Given the description of an element on the screen output the (x, y) to click on. 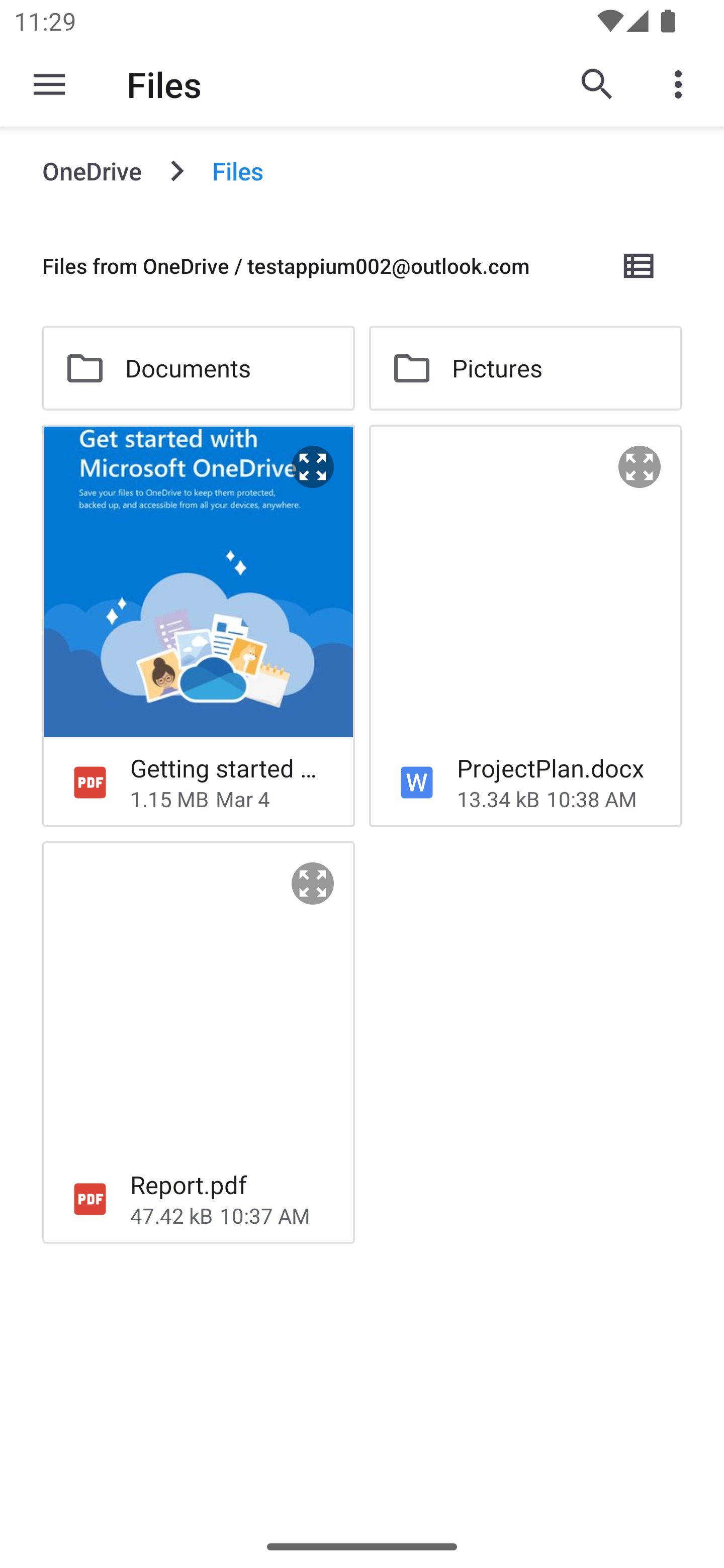
Show roots (49, 84)
Search (597, 84)
More options (681, 84)
List view (639, 265)
Documents (197, 368)
Pictures (525, 368)
Preview the file Getting started with OneDrive.pdf (312, 466)
Preview the file ProjectPlan.docx (639, 466)
Preview the file Report.pdf (312, 883)
